Given the description of an element on the screen output the (x, y) to click on. 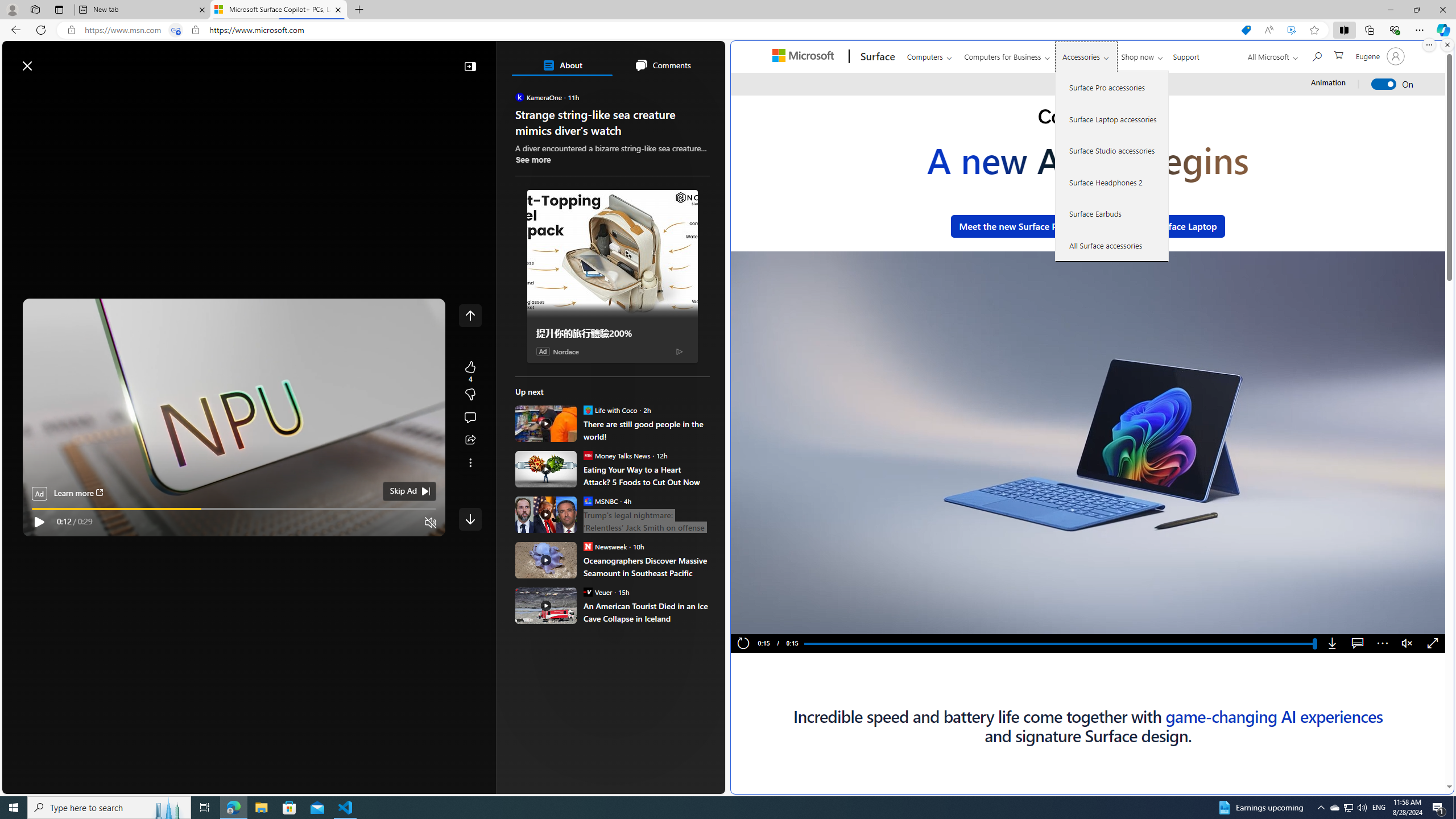
Web search (161, 60)
Support (1185, 54)
Personalize (679, 92)
An American Tourist Died in an Ice Cave Collapse in Iceland (545, 605)
More options (1382, 643)
Dislike (469, 394)
Surface Pro accessories (1112, 87)
